Given the description of an element on the screen output the (x, y) to click on. 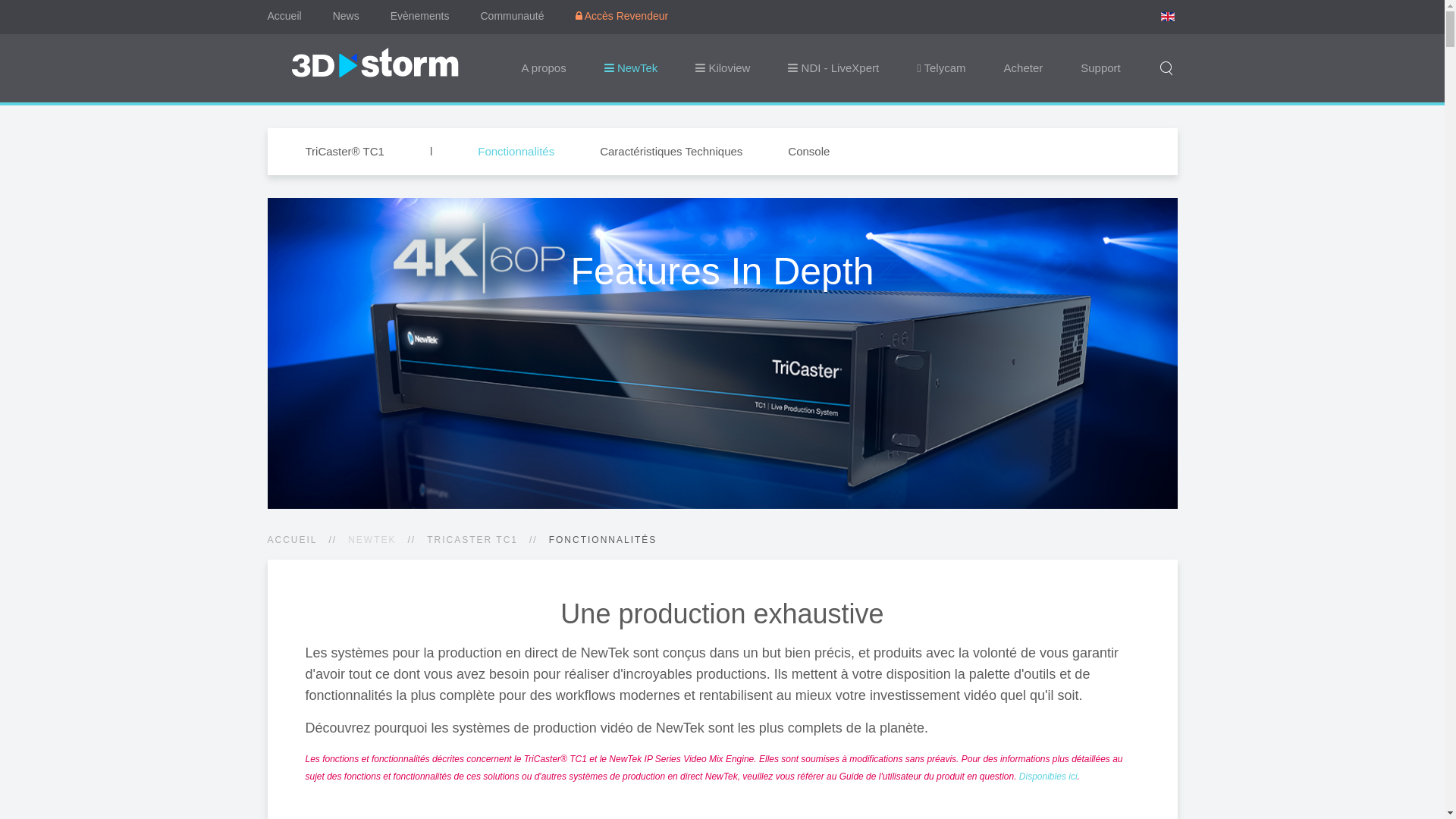
Console Element type: text (808, 151)
NDI - LiveXpert Element type: text (832, 68)
Kiloview Element type: text (722, 68)
English (UK) Element type: hover (1166, 16)
ACCUEIL Element type: text (291, 539)
A propos Element type: text (543, 68)
News Element type: text (345, 15)
NewTek Element type: text (631, 68)
l Element type: text (431, 151)
TRICASTER TC1 Element type: text (471, 539)
Acheter Element type: text (1023, 68)
Support Element type: text (1100, 68)
Accueil Element type: text (283, 15)
Disponibles ici Element type: text (1048, 776)
